Given the description of an element on the screen output the (x, y) to click on. 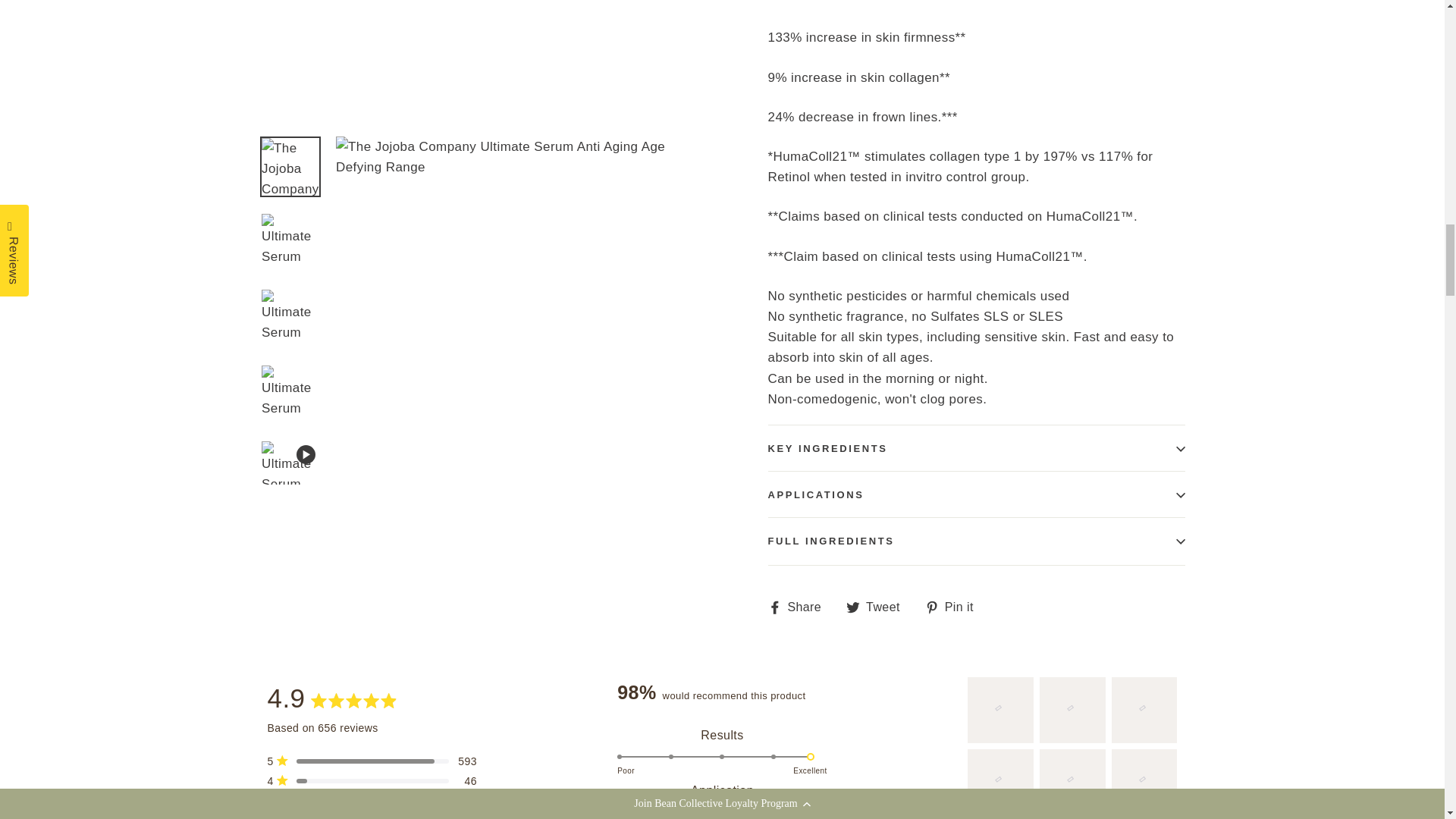
Share on Facebook (799, 607)
Pin on Pinterest (954, 607)
Tweet on Twitter (878, 607)
